Given the description of an element on the screen output the (x, y) to click on. 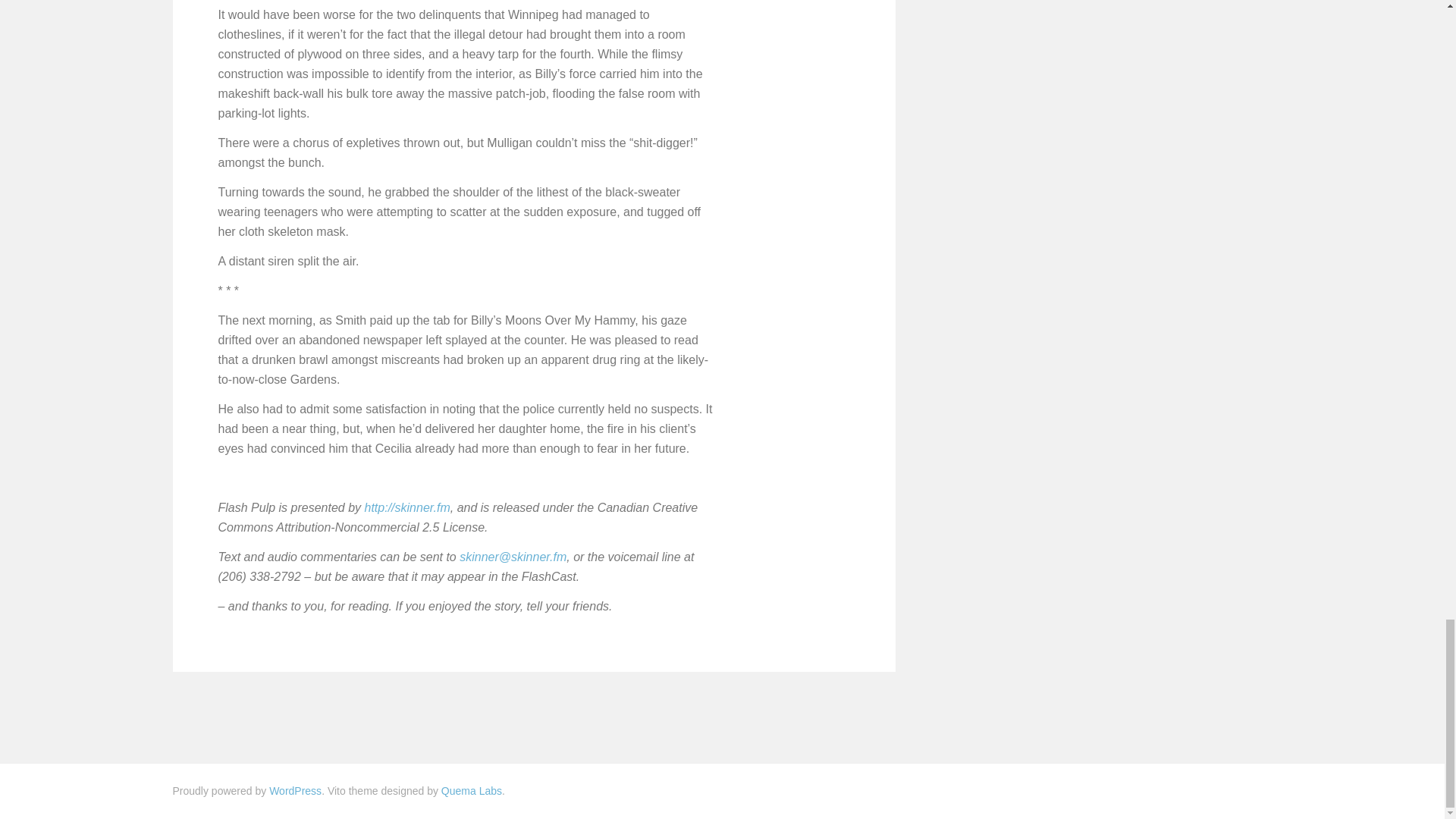
Quema Labs (471, 790)
WordPress (295, 790)
